Given the description of an element on the screen output the (x, y) to click on. 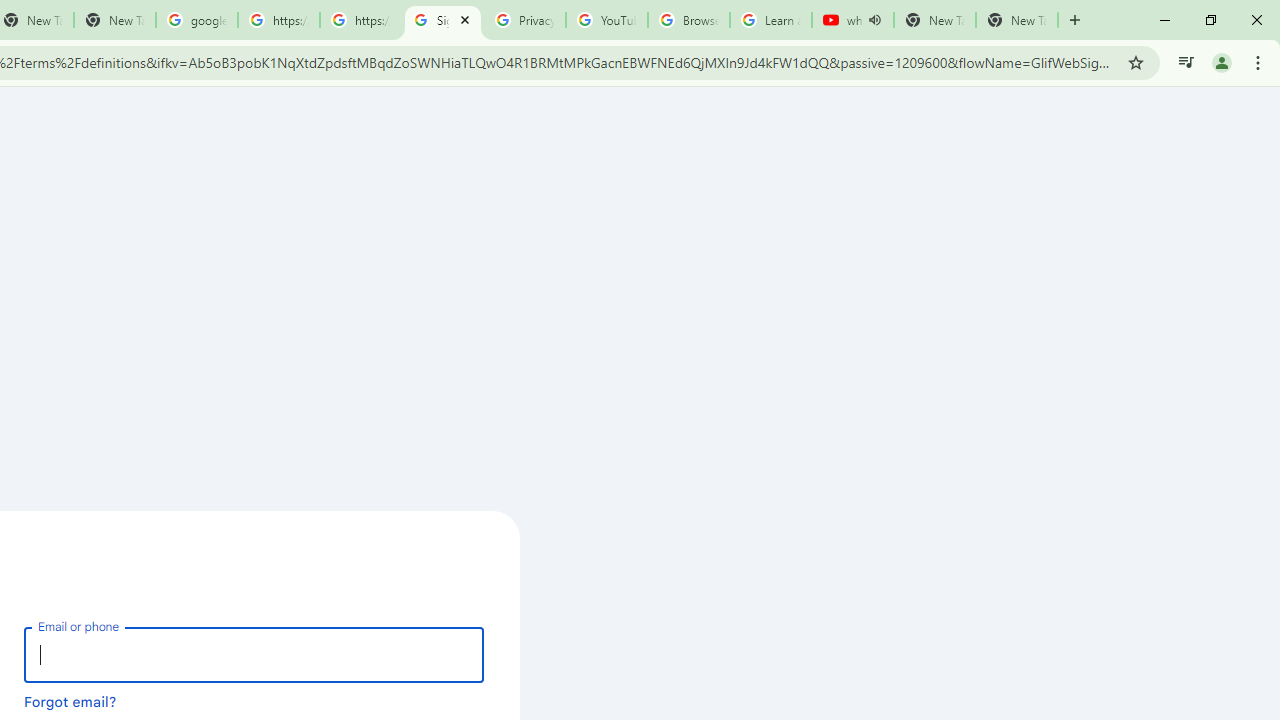
https://scholar.google.com/ (278, 20)
Email or phone (253, 654)
https://scholar.google.com/ (360, 20)
Forgot email? (70, 701)
Sign in - Google Accounts (442, 20)
Control your music, videos, and more (1185, 62)
New Tab (1016, 20)
Browse Chrome as a guest - Computer - Google Chrome Help (688, 20)
